Given the description of an element on the screen output the (x, y) to click on. 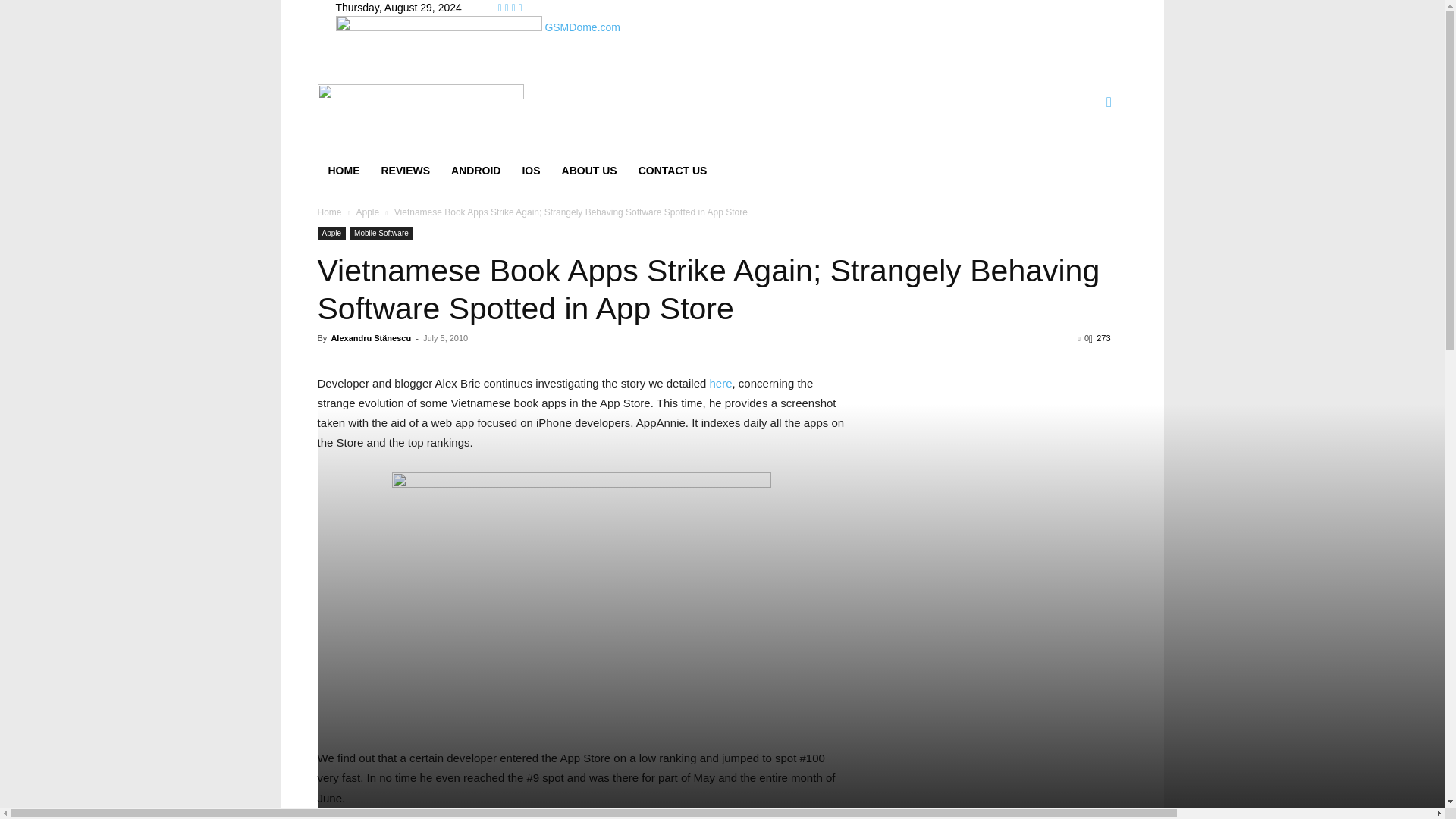
CONTACT US (672, 170)
here (720, 382)
ABOUT US (589, 170)
Mobile Software (381, 233)
IOS (530, 170)
Apple (331, 233)
Home (328, 212)
ANDROID (476, 170)
Apple (366, 212)
HOME (343, 170)
